Given the description of an element on the screen output the (x, y) to click on. 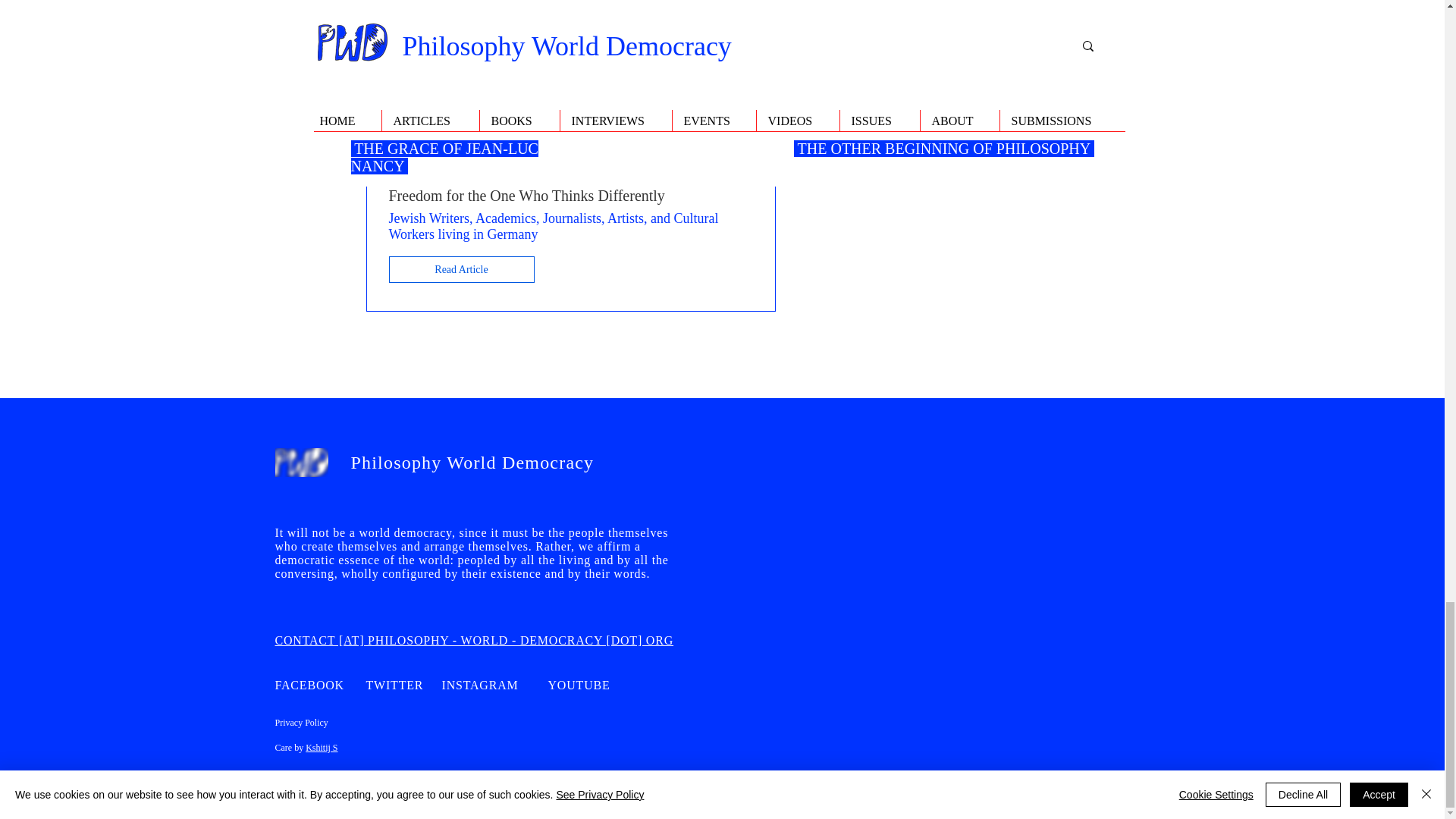
INSTAGRAM (479, 684)
Read Article (461, 269)
Read Article (461, 149)
Kshitij S (321, 747)
Privacy Policy (301, 722)
FACEBOOK (309, 684)
TWITTER (394, 684)
YOUTUBE (578, 684)
